Given the description of an element on the screen output the (x, y) to click on. 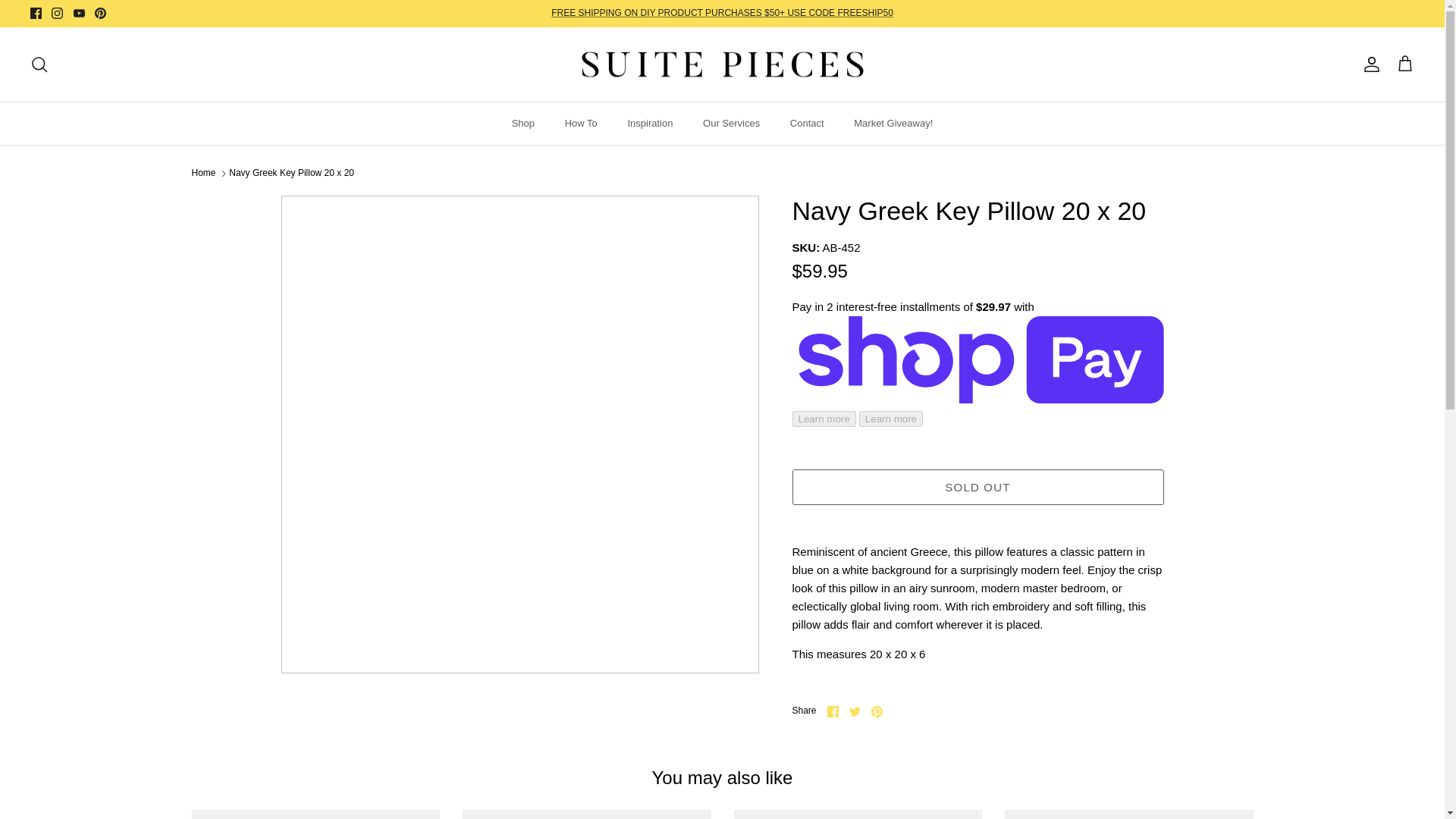
Account (1368, 64)
Twitter (854, 711)
Pinterest (876, 711)
Facebook (832, 711)
Instagram (56, 12)
Search (39, 64)
Pinterest (100, 12)
Shop (522, 123)
Instagram (56, 12)
Facebook (36, 12)
